Given the description of an element on the screen output the (x, y) to click on. 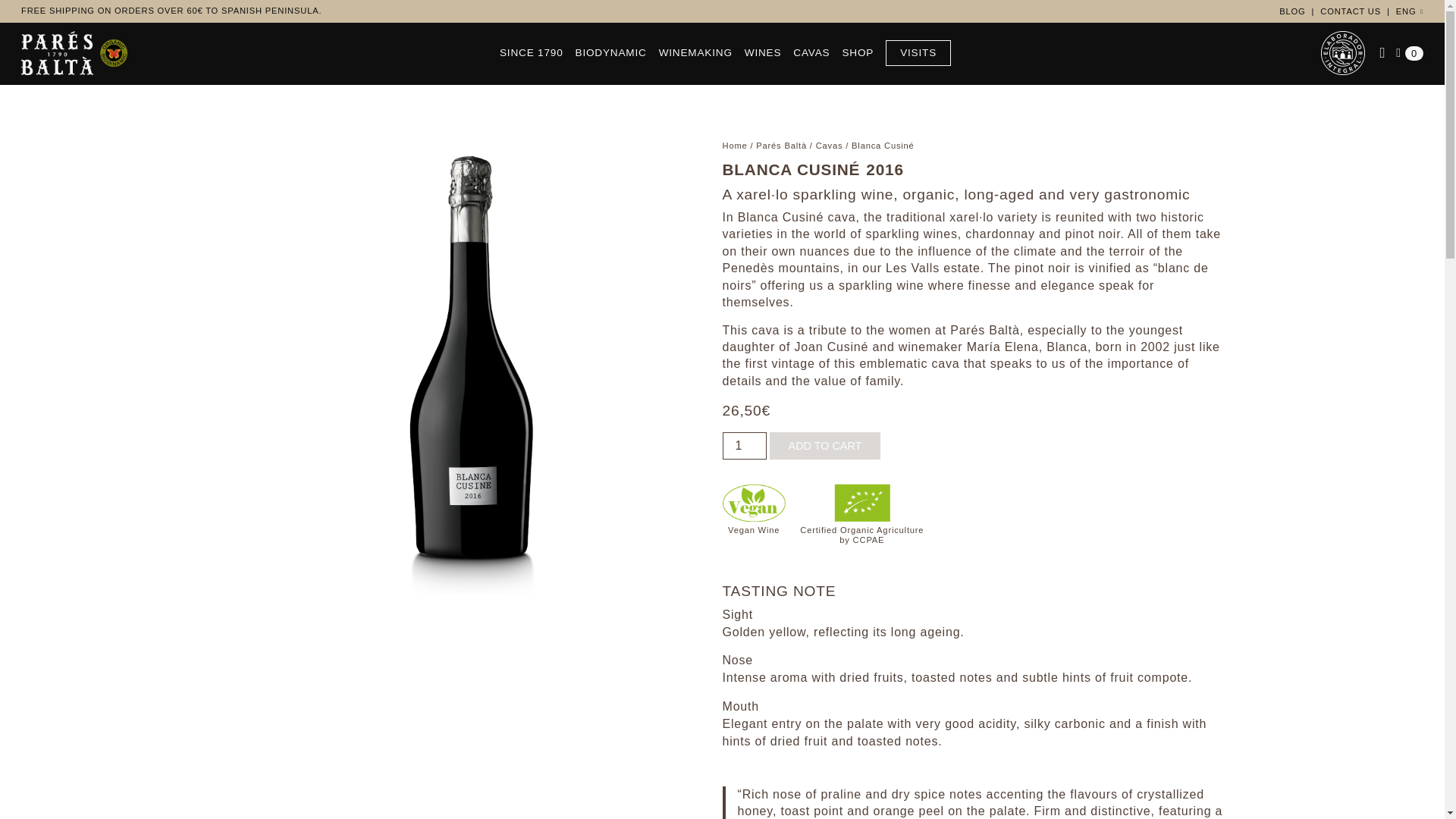
SINCE 1790 (531, 52)
WINES (762, 52)
Wines (762, 52)
Home (734, 144)
WINEMAKING (695, 52)
BIODYNAMIC (610, 52)
Biodynamic (610, 52)
SHOP (857, 52)
Shop (857, 52)
ADD TO CART (825, 445)
